Given the description of an element on the screen output the (x, y) to click on. 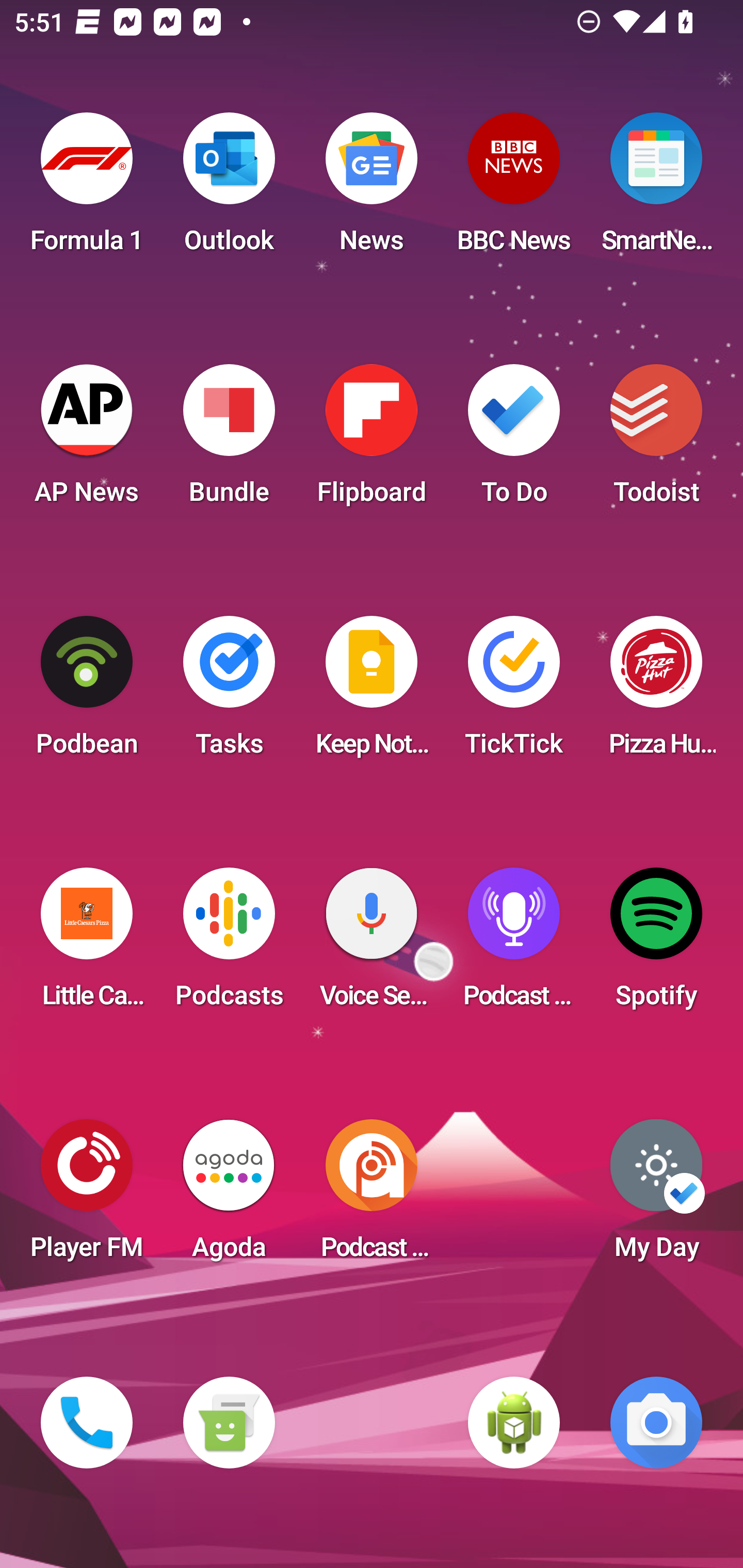
Formula 1 (86, 188)
Outlook (228, 188)
News (371, 188)
BBC News (513, 188)
SmartNews (656, 188)
AP News (86, 440)
Bundle (228, 440)
Flipboard (371, 440)
To Do (513, 440)
Todoist (656, 440)
Podbean (86, 692)
Tasks (228, 692)
Keep Notes (371, 692)
TickTick (513, 692)
Pizza Hut HK & Macau (656, 692)
Little Caesars Pizza (86, 943)
Podcasts (228, 943)
Voice Search (371, 943)
Podcast Player (513, 943)
Spotify (656, 943)
Player FM (86, 1195)
Agoda (228, 1195)
Podcast Addict (371, 1195)
My Day (656, 1195)
Phone (86, 1422)
Messaging (228, 1422)
WebView Browser Tester (513, 1422)
Camera (656, 1422)
